Given the description of an element on the screen output the (x, y) to click on. 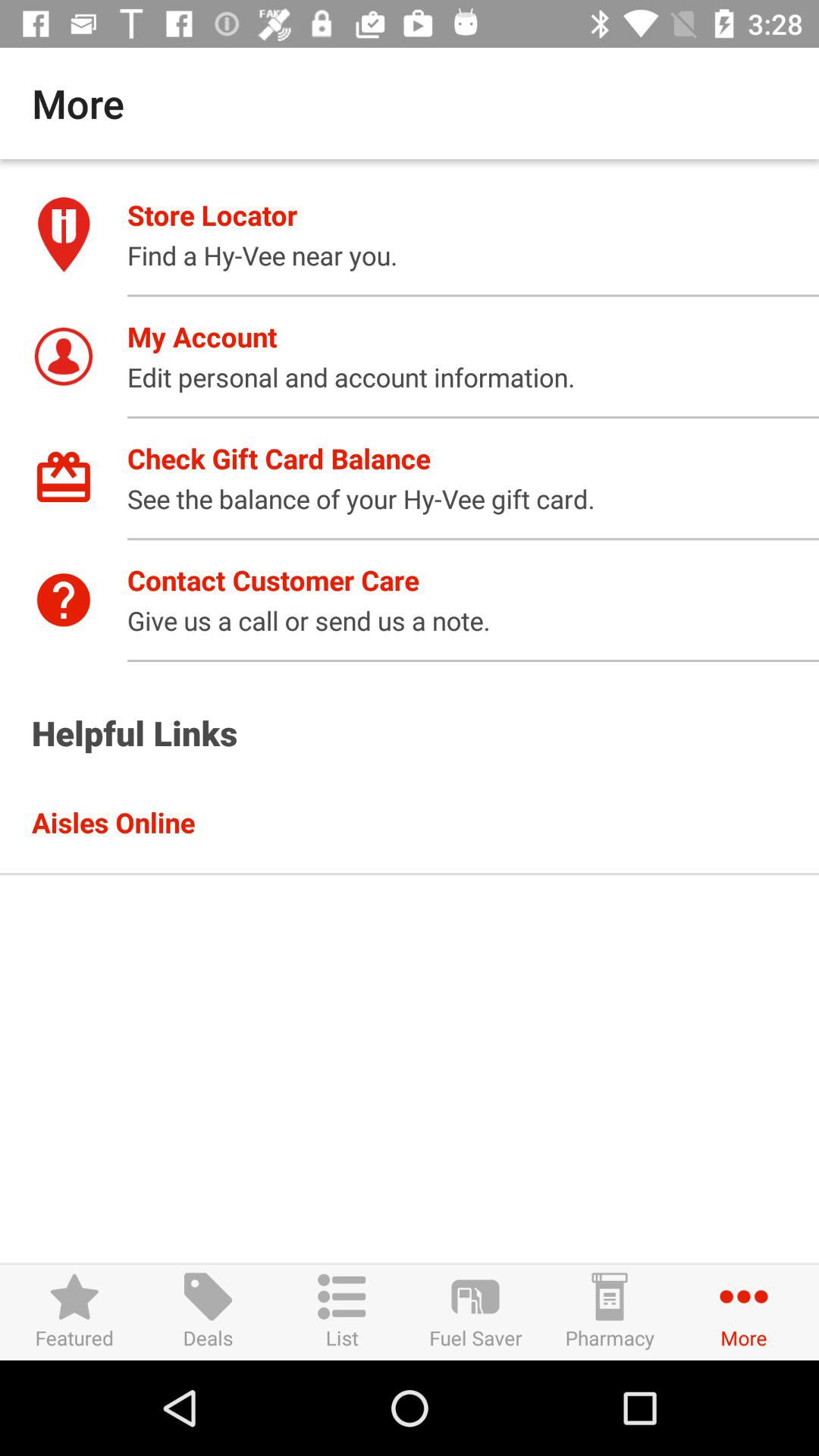
open the item to the left of more icon (609, 1311)
